Given the description of an element on the screen output the (x, y) to click on. 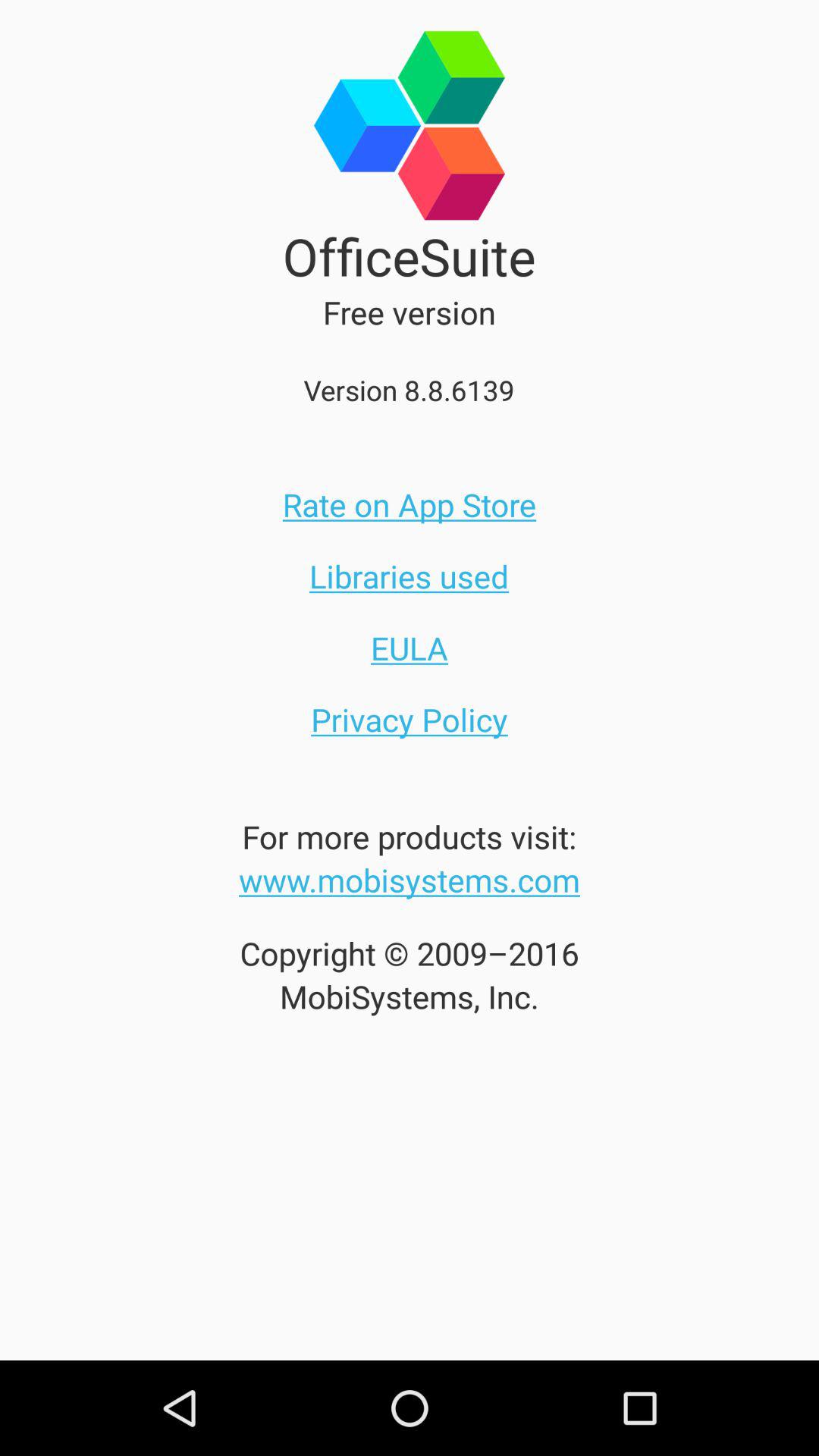
go to privacy policy (409, 719)
click on the website (409, 880)
click rate on app store (409, 504)
click eula (409, 647)
